Given the description of an element on the screen output the (x, y) to click on. 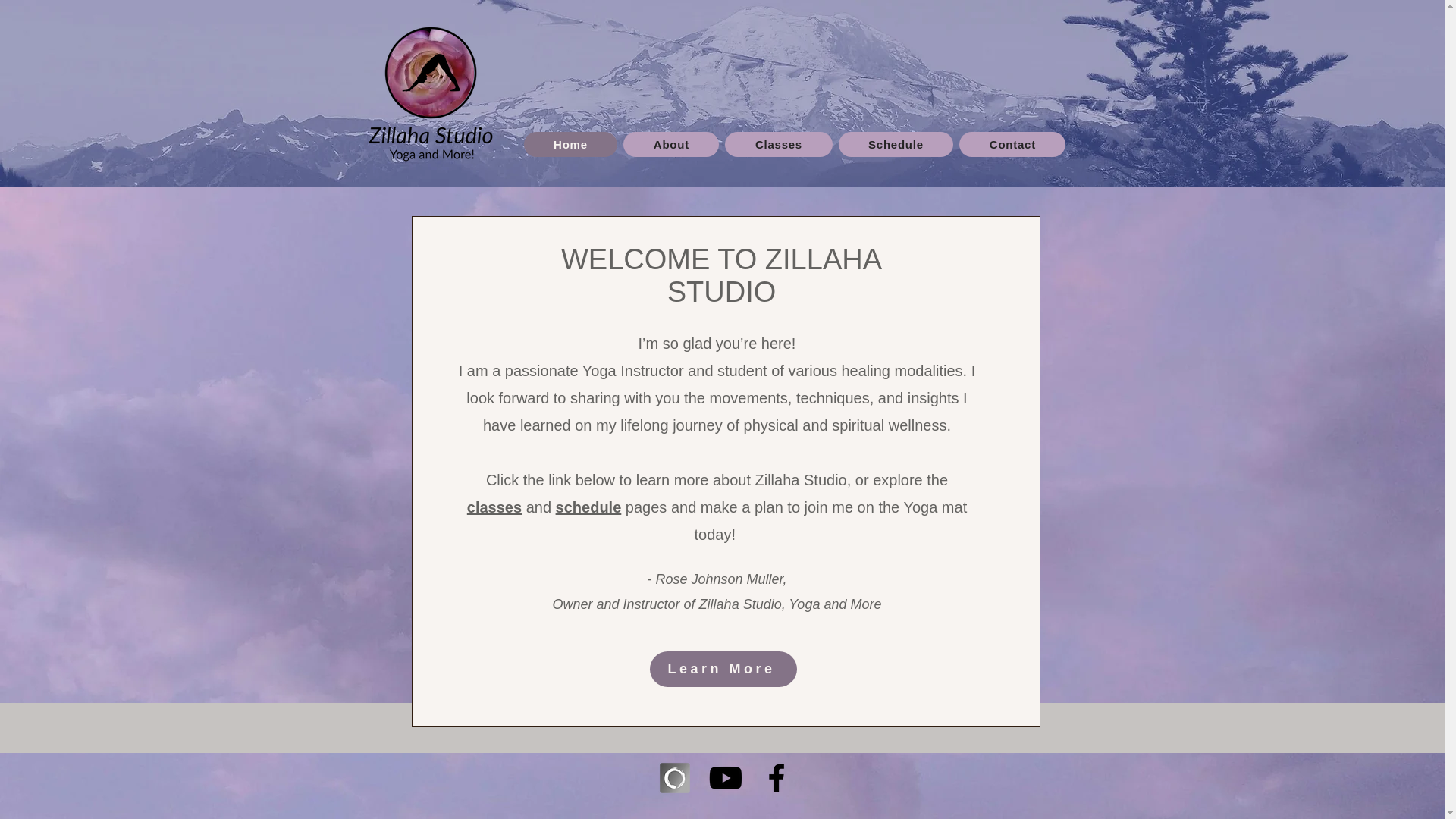
Classes (778, 144)
Schedule (895, 144)
1.png (430, 92)
Contact (1012, 144)
schedule (588, 506)
Home (569, 144)
classes (494, 506)
About (671, 144)
Learn More (722, 669)
